Given the description of an element on the screen output the (x, y) to click on. 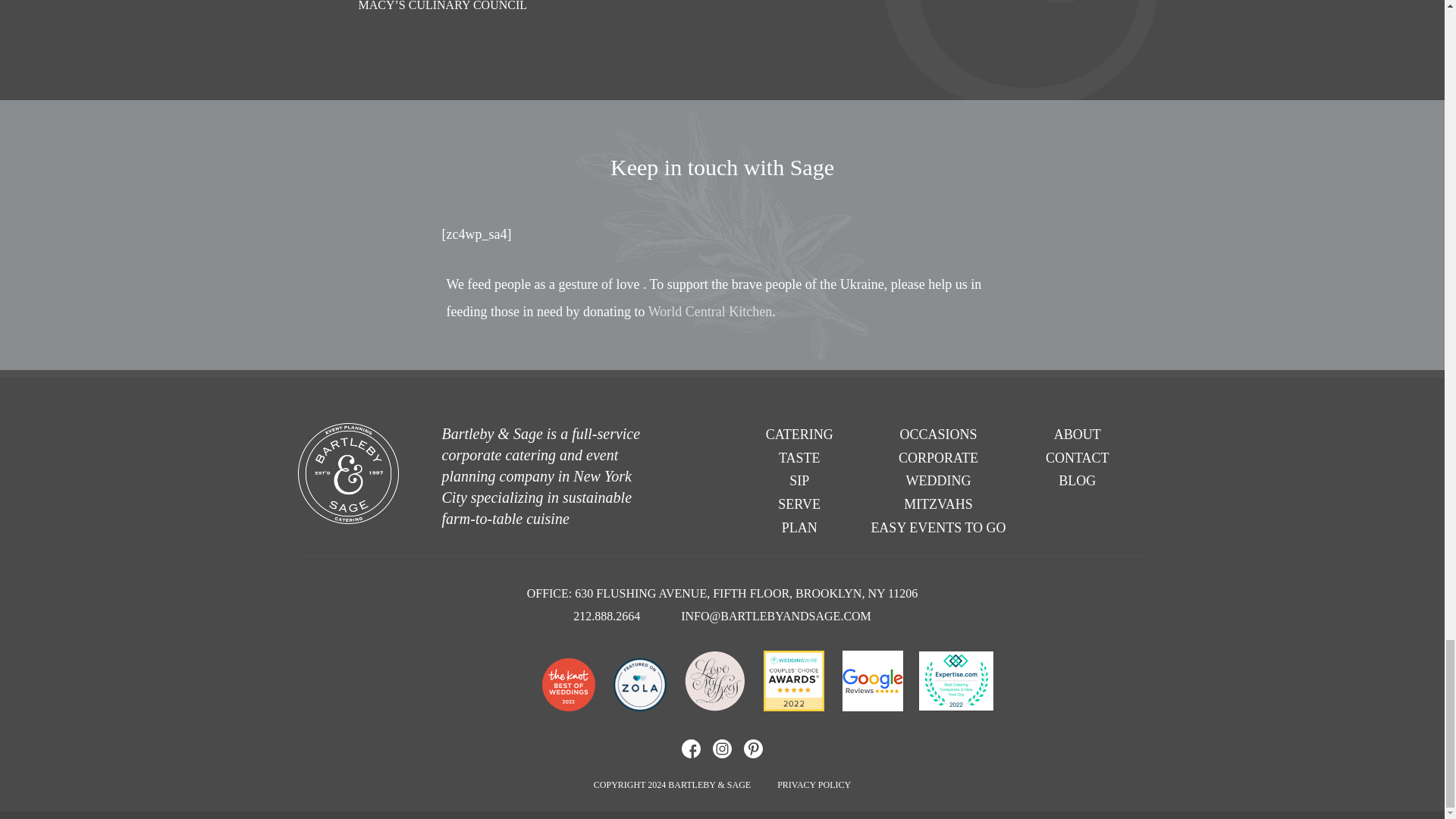
WeddingWire Couples' Choice Award Winner 2022 (793, 683)
TASTE (799, 458)
OCCASIONS (937, 434)
PLAN (798, 527)
SERVE (799, 503)
SIP (799, 480)
CATERING (798, 434)
CORPORATE (938, 458)
World Central Kitchen (710, 311)
